Given the description of an element on the screen output the (x, y) to click on. 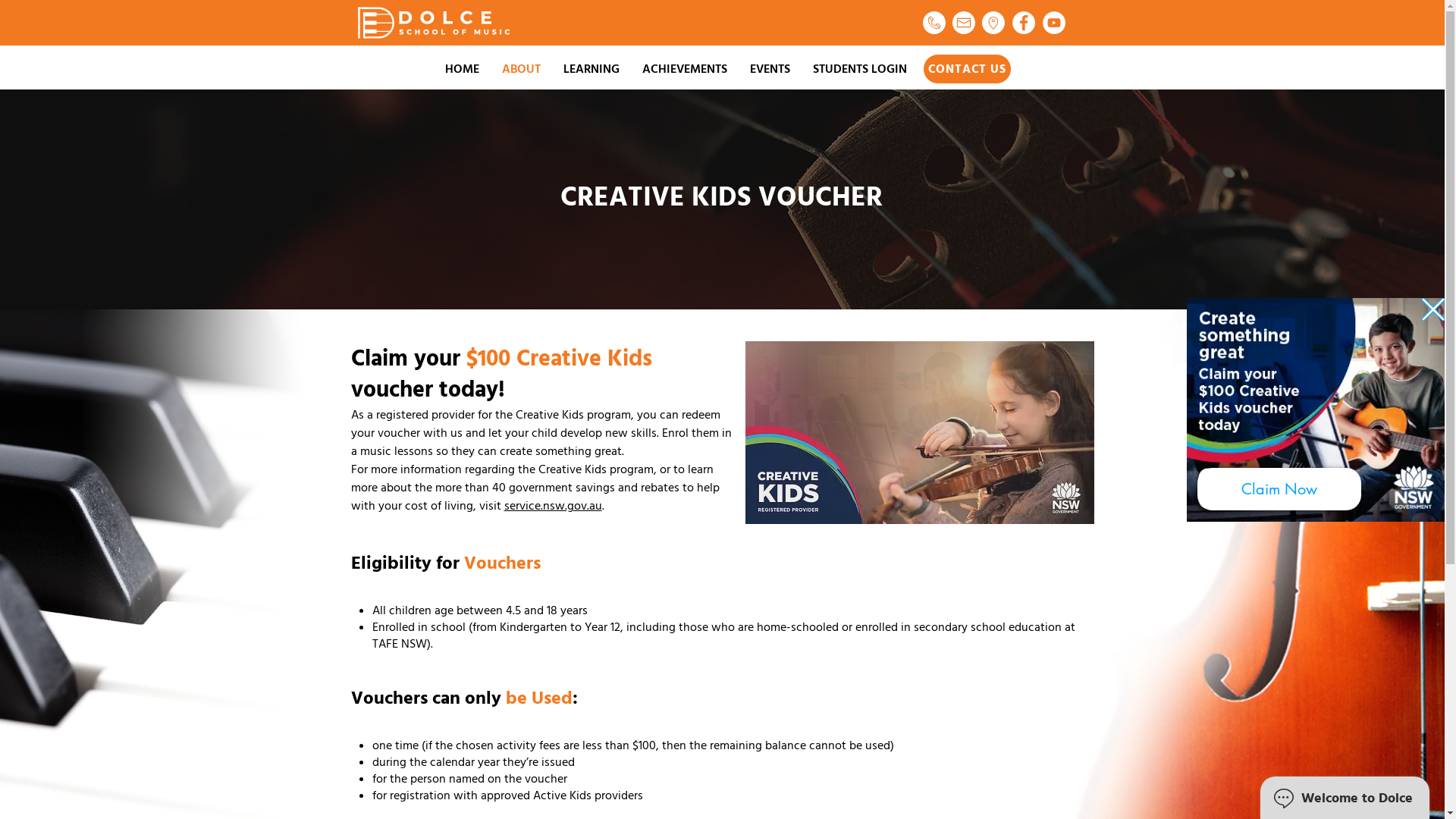
Claim Now Element type: text (1279, 488)
Logo white.png Element type: hover (433, 22)
EVENTS Element type: text (769, 68)
service.nsw.gov.au Element type: text (552, 505)
ACHIEVEMENTS Element type: text (684, 68)
STUDENTS LOGIN Element type: text (858, 68)
HOME Element type: text (461, 68)
CONTACT US Element type: text (963, 68)
LEARNING Element type: text (591, 68)
CONTACT US Element type: text (966, 68)
ABOUT Element type: text (520, 68)
Back to site Element type: hover (1432, 308)
